Given the description of an element on the screen output the (x, y) to click on. 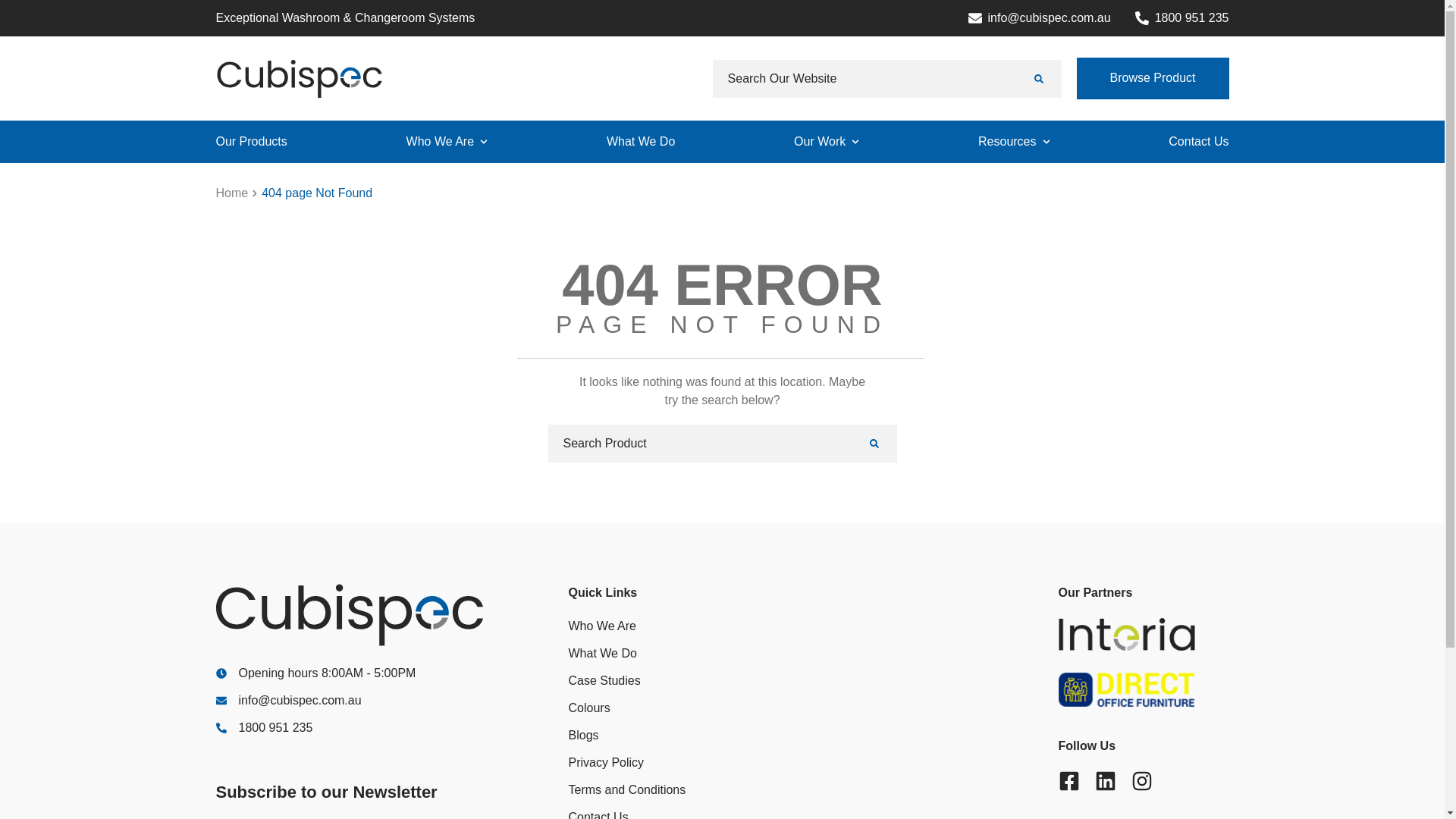
Interia Systems Element type: hover (1143, 634)
Contact Us Element type: text (1198, 141)
Cubispec Element type: hover (363, 614)
Blogs Element type: text (583, 734)
What We Do Element type: text (602, 652)
Our Products Element type: text (250, 141)
Home Element type: text (231, 193)
info@cubispec.com.au Element type: text (1039, 18)
Browse Product Element type: text (1152, 78)
What We Do Element type: text (640, 141)
Who We Are Element type: text (602, 625)
info@cubispec.com.au Element type: text (374, 700)
LinkedIn Element type: hover (1105, 780)
Direct Office Element type: hover (1143, 689)
Our Work Element type: text (819, 141)
Cubispec Element type: hover (298, 78)
Colours Element type: text (589, 707)
Case Studies Element type: text (604, 680)
Resources Element type: text (1006, 141)
1800 951 235 Element type: text (374, 727)
Privacy Policy Element type: text (606, 762)
Facebook Element type: hover (1068, 780)
1800 951 235 Element type: text (1182, 18)
Instagram Element type: hover (1141, 780)
Who We Are Element type: text (440, 141)
Terms and Conditions Element type: text (627, 789)
